Given the description of an element on the screen output the (x, y) to click on. 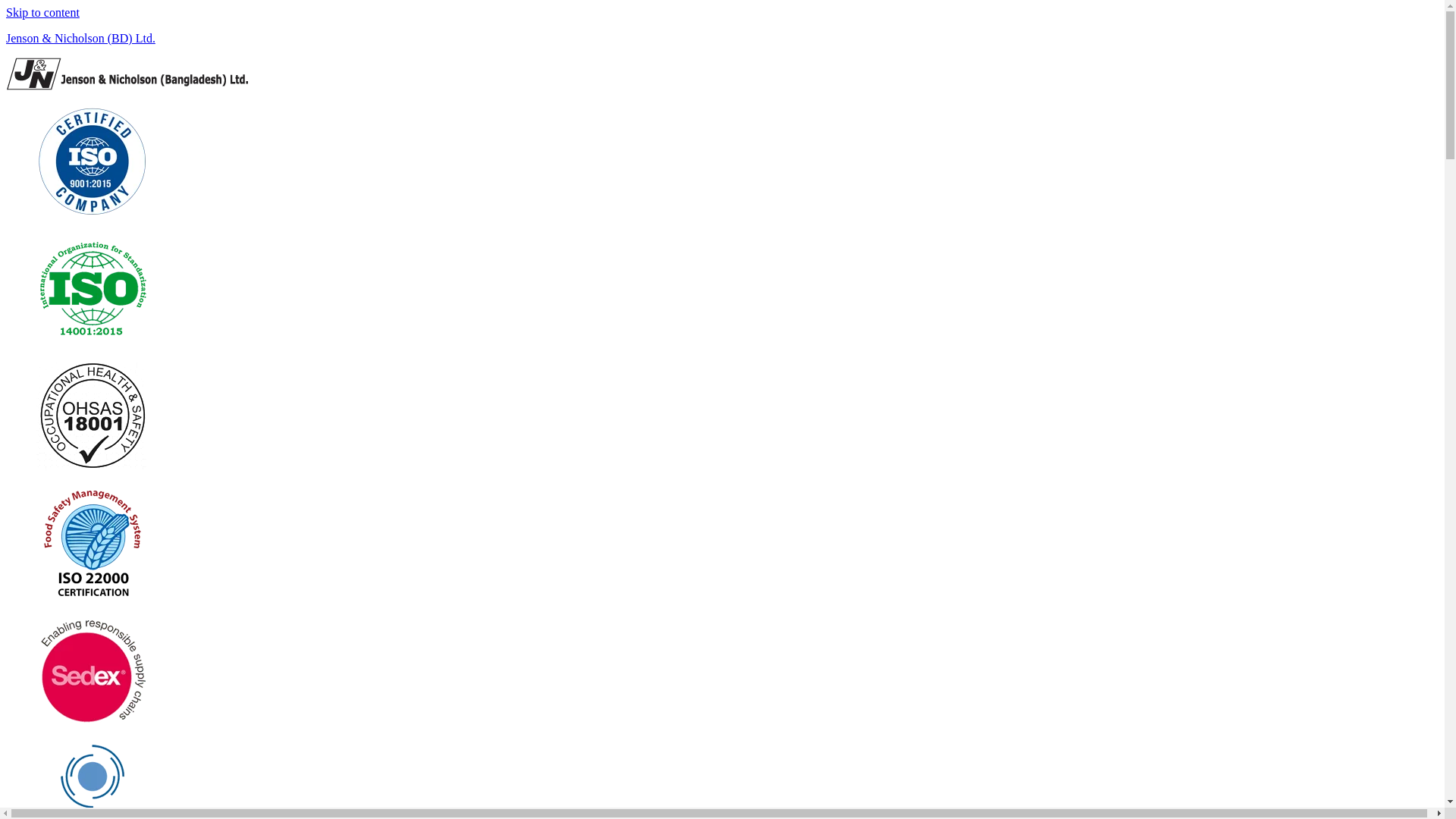
Skip to content Element type: text (42, 12)
Jenson & Nicholson (BD) Ltd. Element type: text (80, 37)
